Given the description of an element on the screen output the (x, y) to click on. 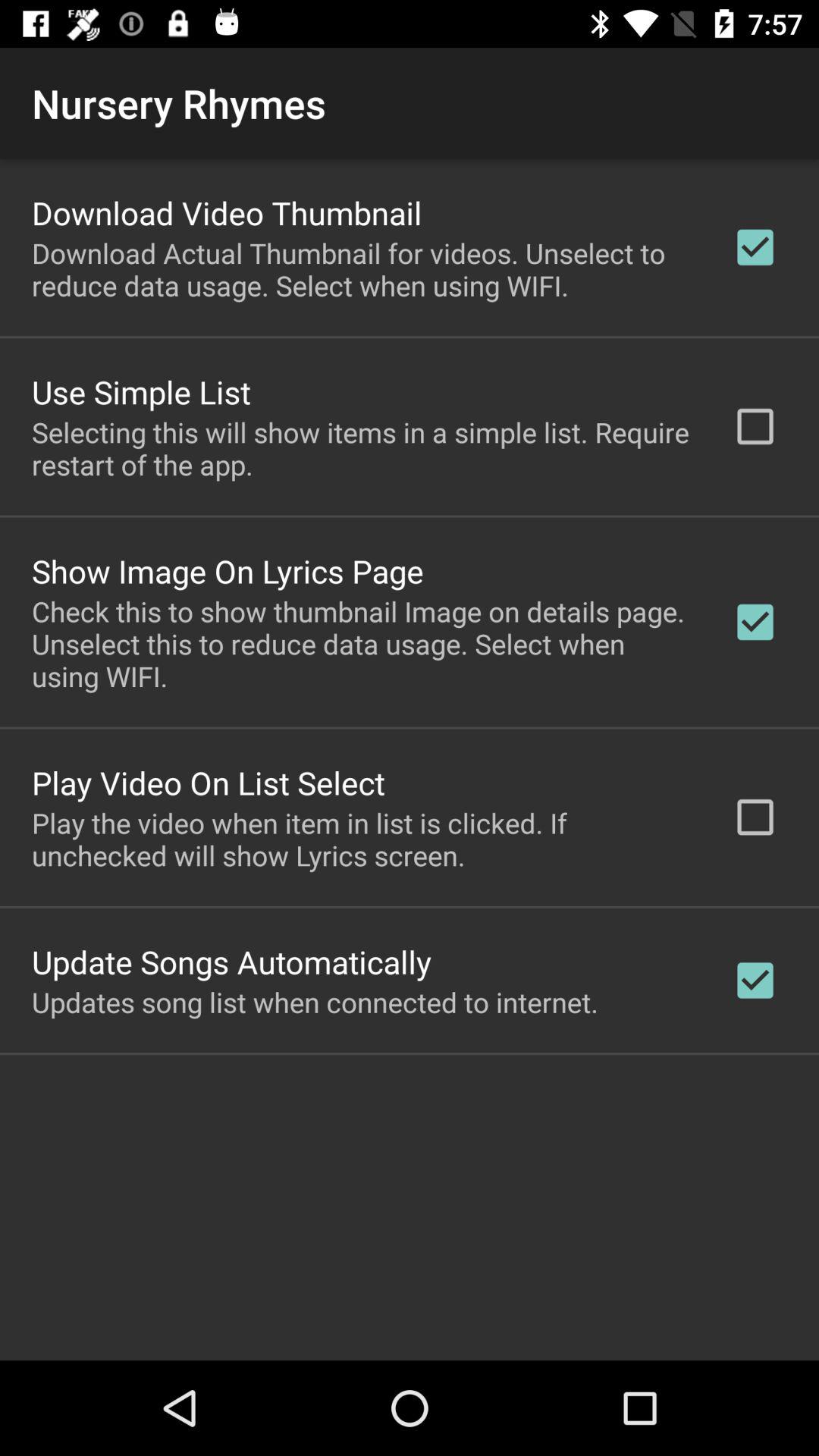
turn off icon below update songs automatically item (314, 1001)
